Given the description of an element on the screen output the (x, y) to click on. 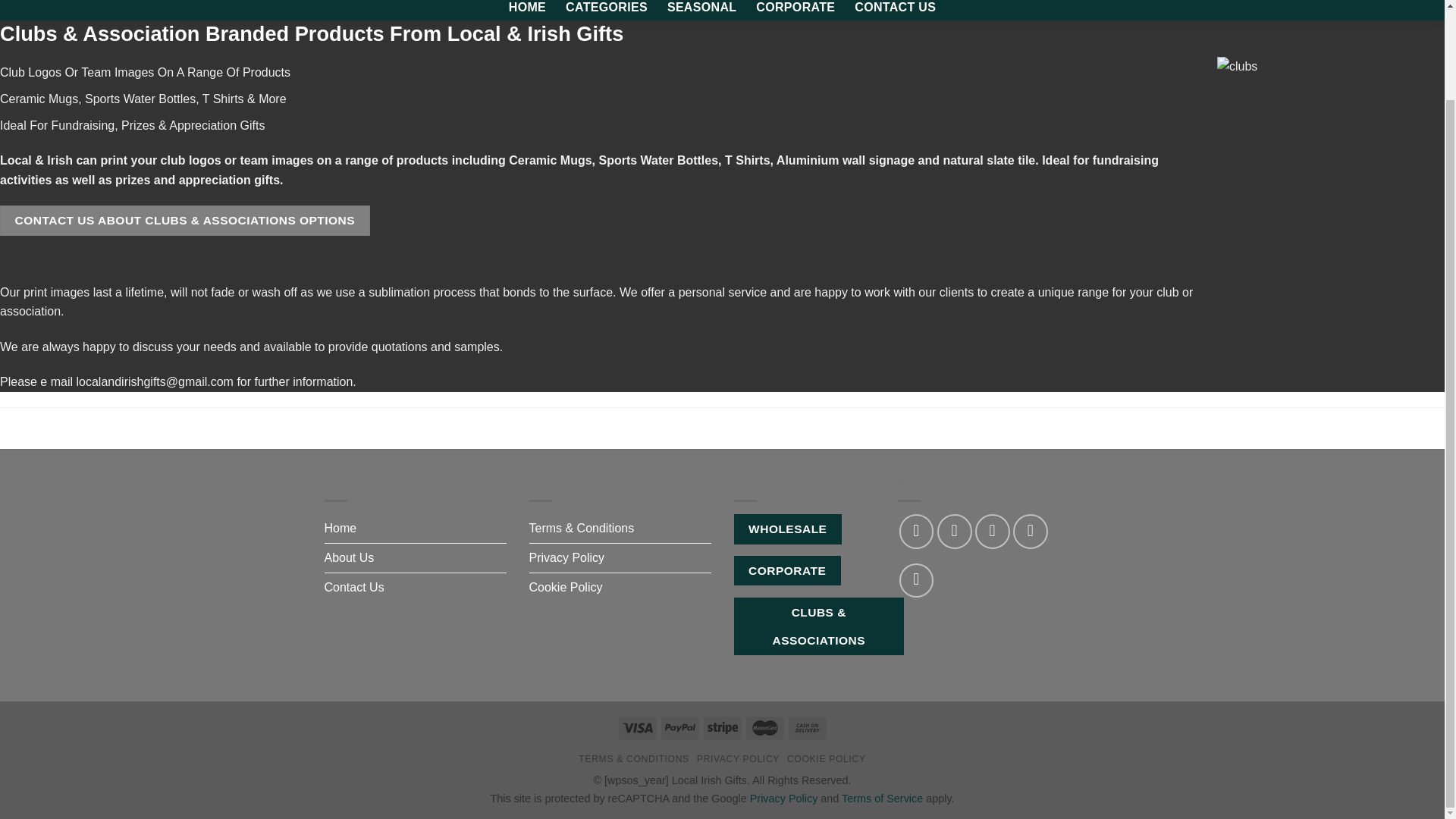
Privacy Policy (783, 797)
CATEGORIES (606, 9)
WHOLESALE (788, 528)
CORPORATE (787, 570)
About Us (349, 557)
COOKIE POLICY (826, 758)
SEASONAL (701, 9)
PRIVACY POLICY (737, 758)
Contact Us (354, 587)
Call us (916, 580)
Cookie Policy (565, 587)
Follow on Instagram (954, 531)
CORPORATE (794, 9)
Follow on Twitter (992, 531)
CONTACT US (895, 9)
